Given the description of an element on the screen output the (x, y) to click on. 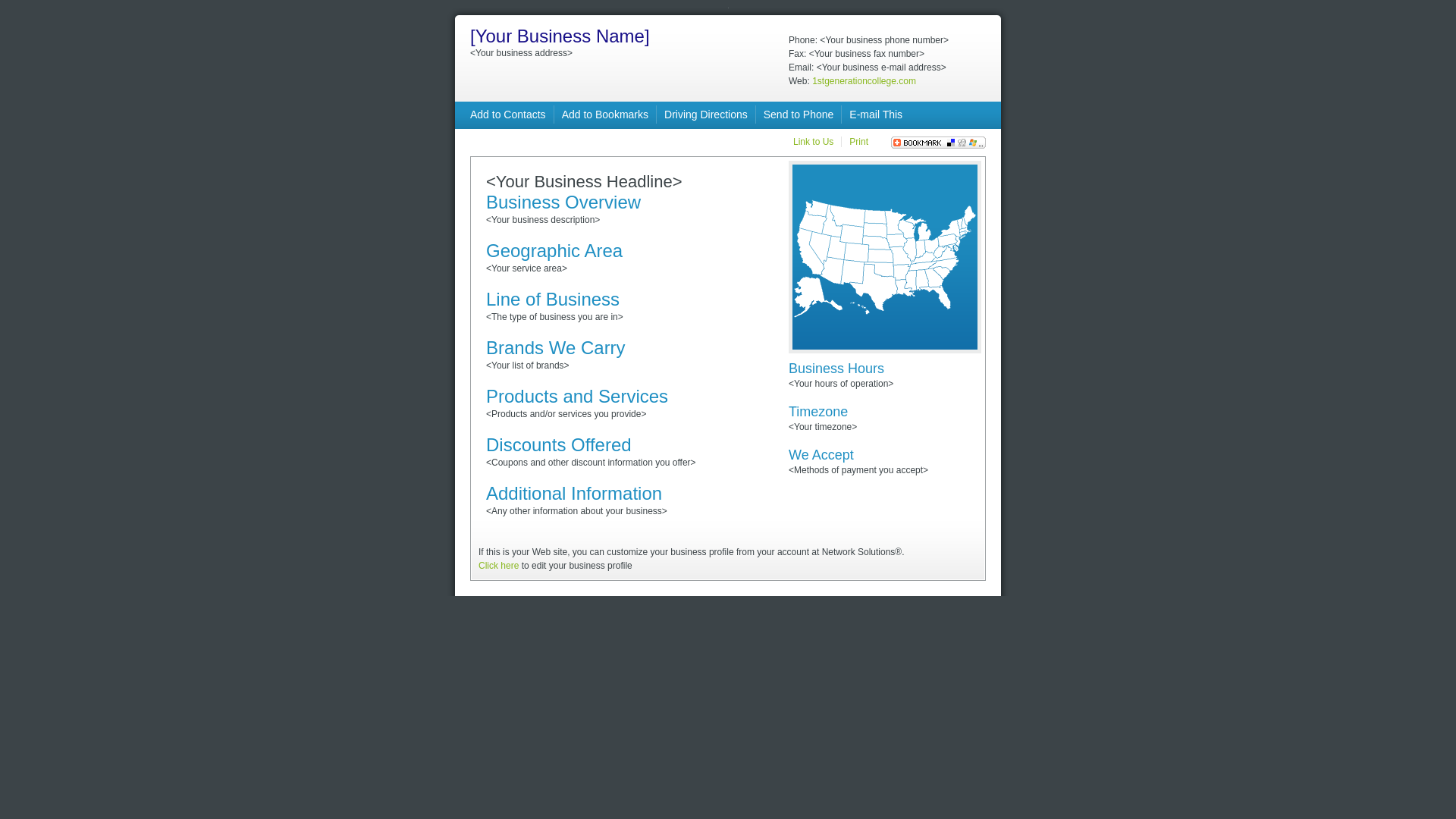
1stgenerationcollege.com Element type: text (864, 80)
Add to Bookmarks Element type: text (604, 114)
Driving Directions Element type: text (705, 114)
Add to Contacts Element type: text (508, 114)
Click here Element type: text (498, 565)
Link to Us Element type: text (813, 141)
E-mail This Element type: text (875, 114)
Send to Phone Element type: text (798, 114)
Print Element type: text (858, 141)
